Given the description of an element on the screen output the (x, y) to click on. 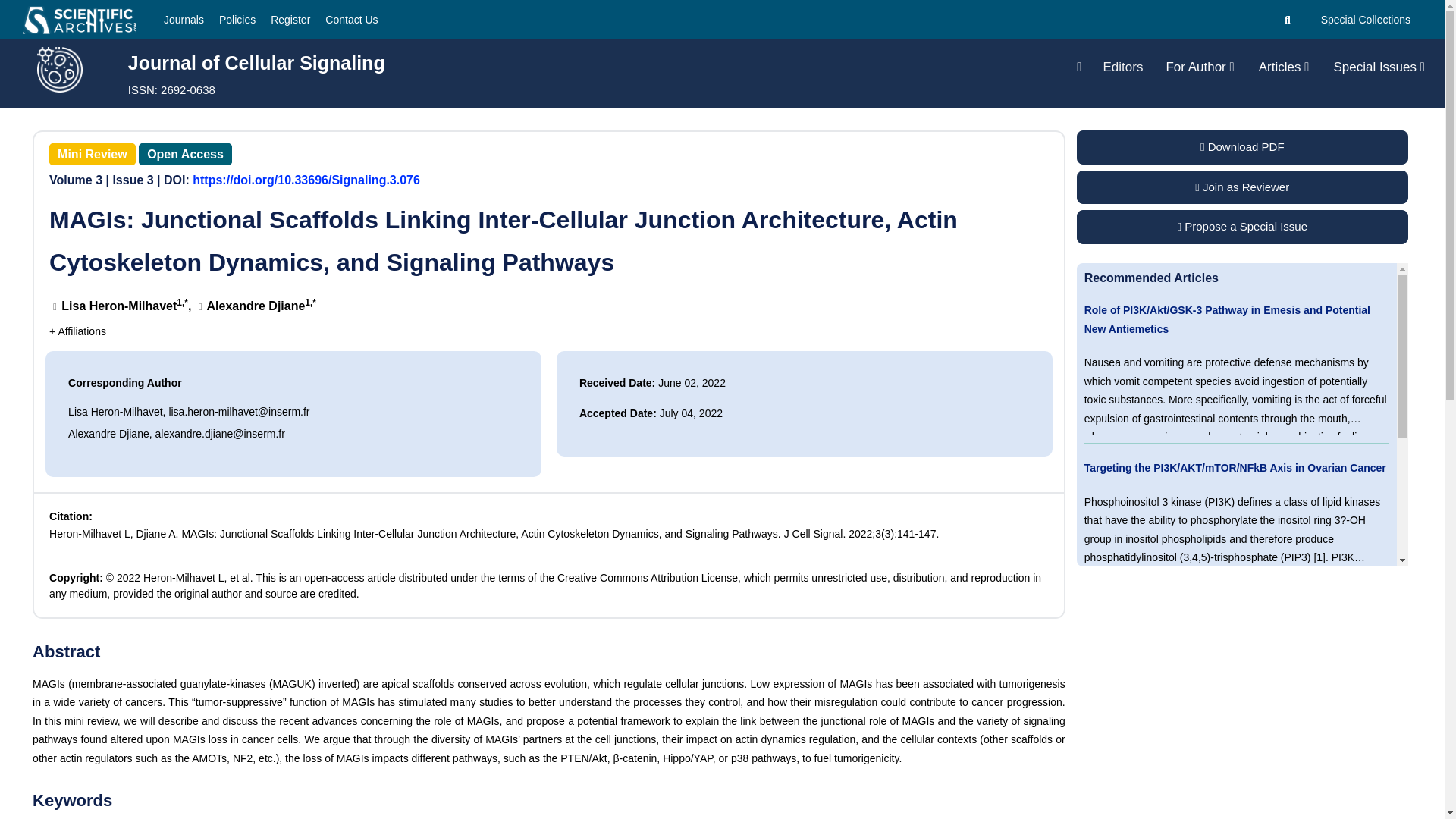
Propose a Special Issue (1242, 226)
Mini Review (92, 154)
Articles (1284, 66)
Special Collections (1365, 19)
For Author (1199, 66)
Contact Us (350, 19)
Journals (183, 19)
Editors (1122, 66)
Register (290, 19)
Join as Reviewer (1242, 186)
Download PDF (1242, 147)
Special Issues (1378, 66)
Open Access (184, 154)
Policies (237, 19)
